Given the description of an element on the screen output the (x, y) to click on. 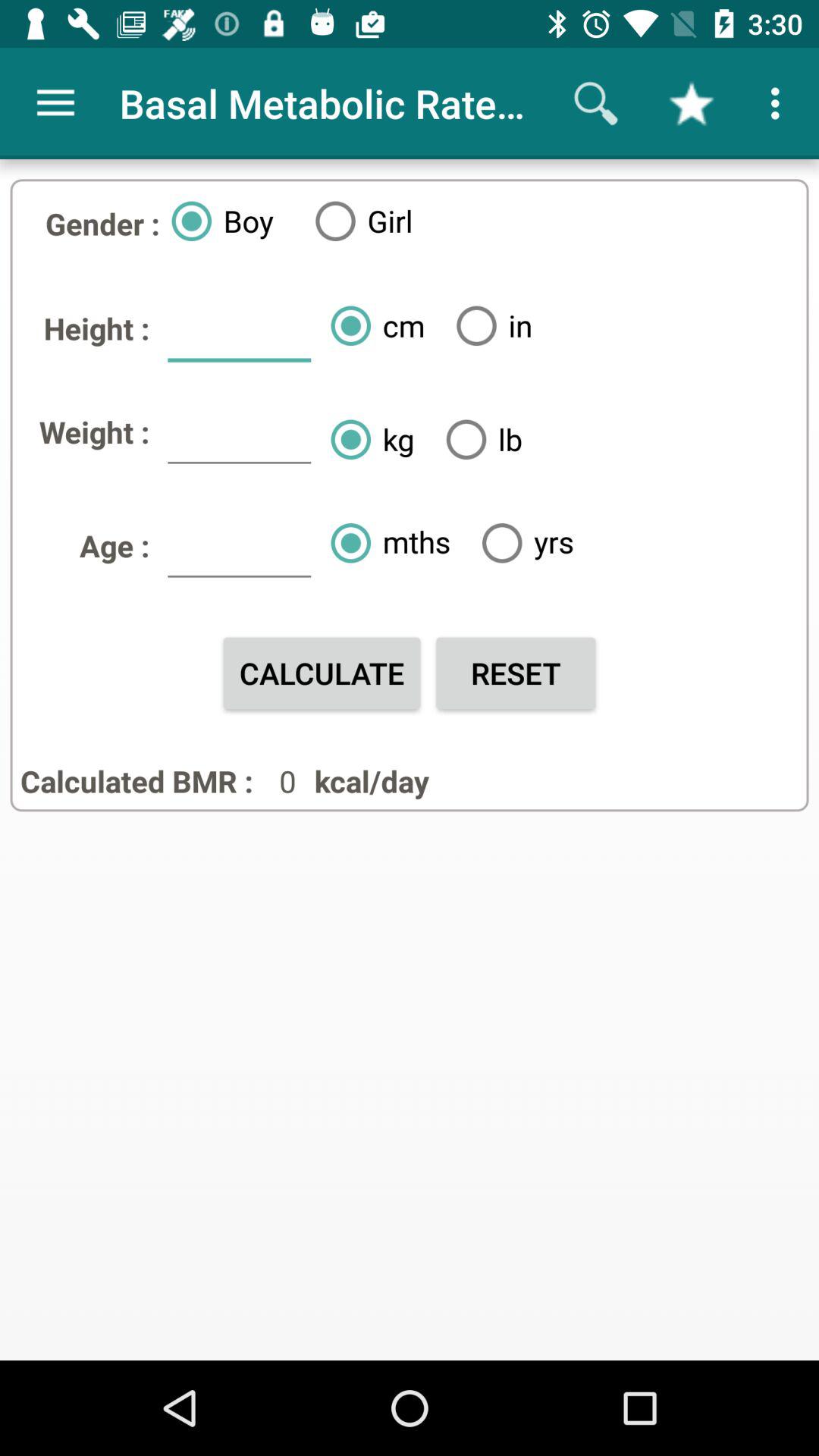
launch the app below the basal metabolic rate app (488, 325)
